Given the description of an element on the screen output the (x, y) to click on. 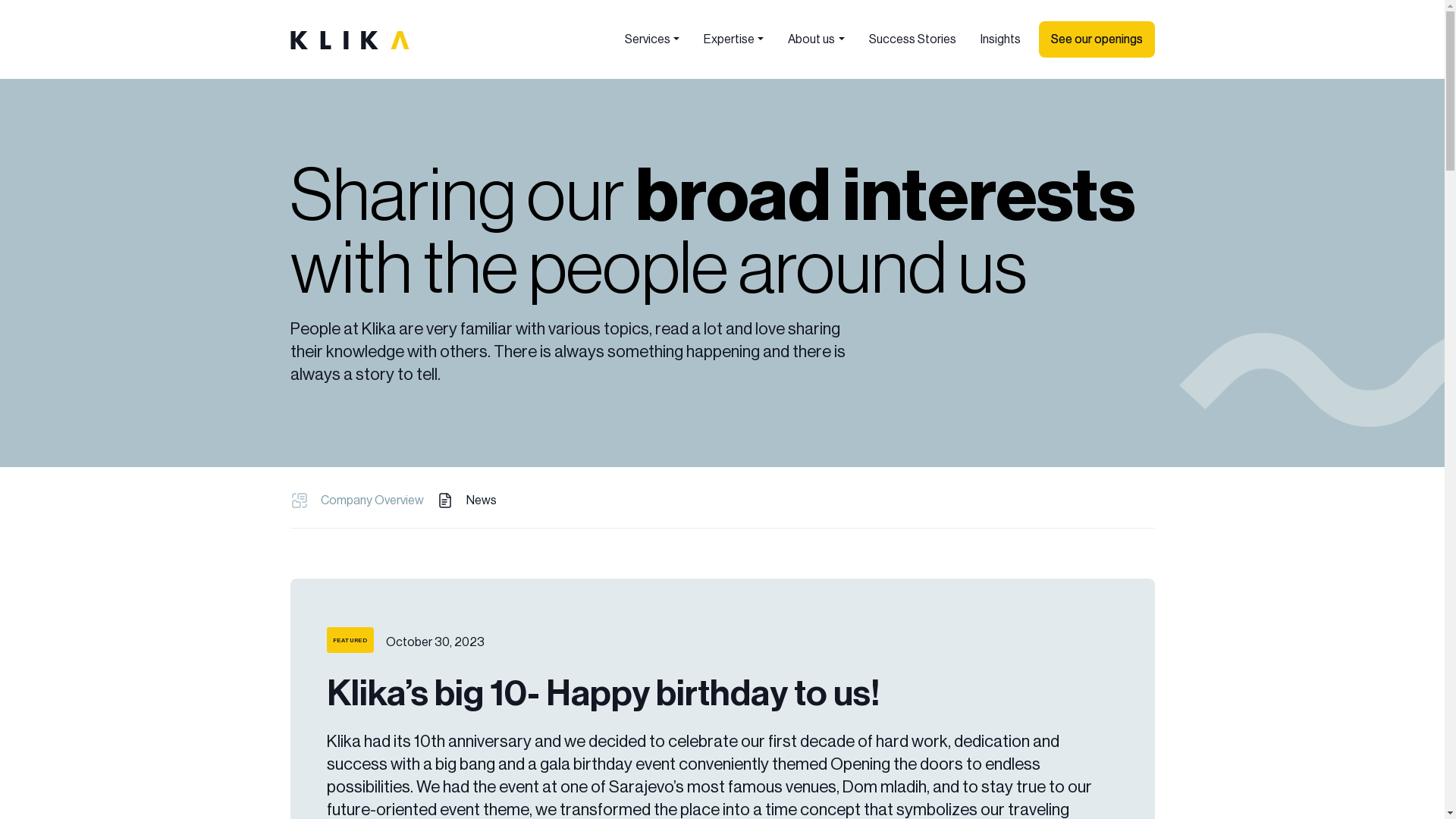
Services Element type: text (651, 39)
See our openings Element type: text (1096, 39)
Expertise Element type: text (733, 39)
Insights Element type: text (999, 39)
About us Element type: text (815, 39)
Success Stories Element type: text (912, 39)
Company Overview Element type: text (371, 500)
